Given the description of an element on the screen output the (x, y) to click on. 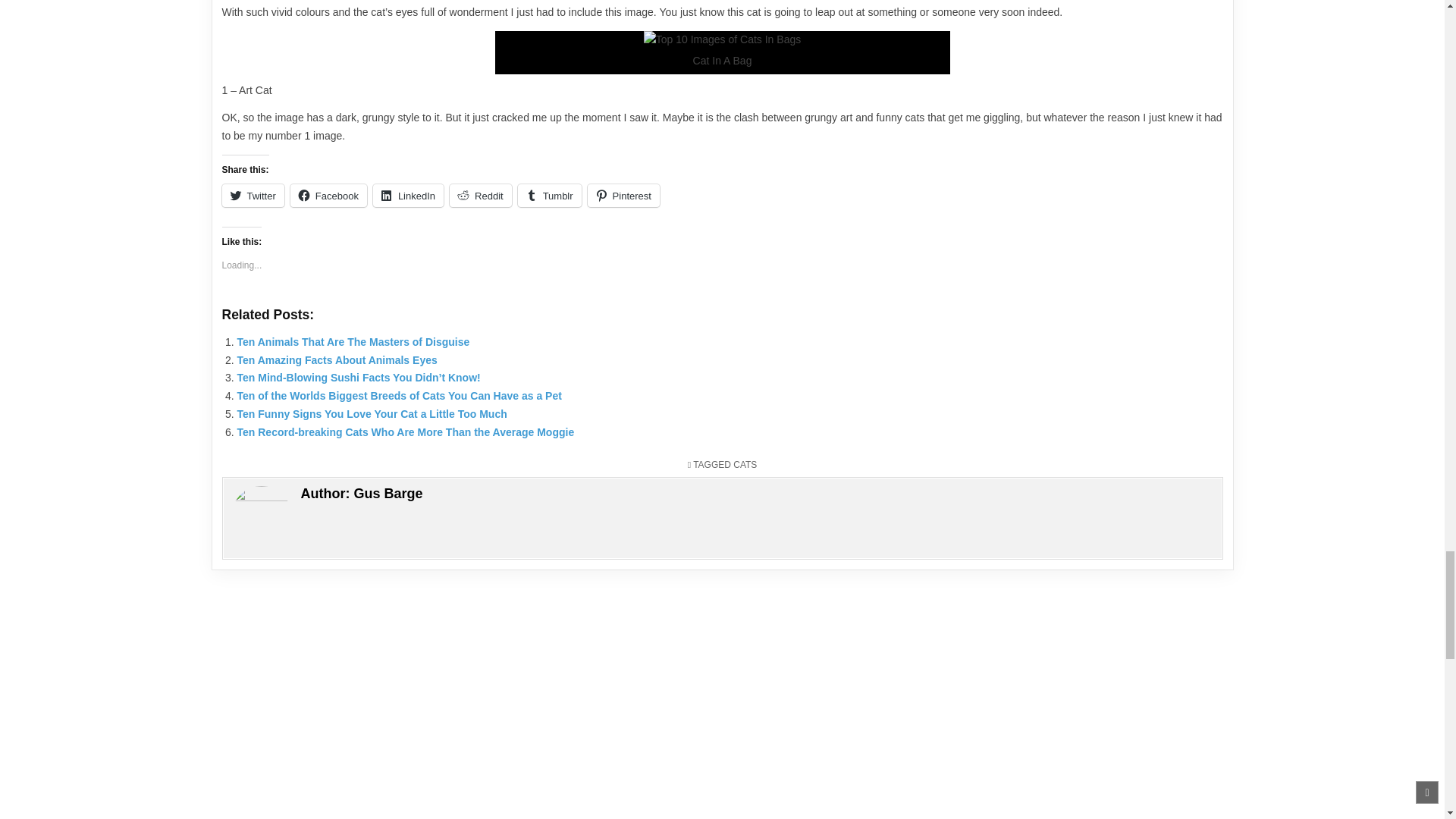
Twitter (252, 195)
Reddit (480, 195)
Click to share on Reddit (480, 195)
Tumblr (549, 195)
Ten Animals That Are The Masters of Disguise (351, 341)
Click to share on LinkedIn (408, 195)
Click to share on Tumblr (549, 195)
Click to share on Facebook (327, 195)
Pinterest (623, 195)
Click to share on Pinterest (623, 195)
Ten Funny Signs You Love Your Cat a Little Too Much (370, 413)
Ten Amazing Facts About Animals Eyes (335, 359)
Facebook (327, 195)
